Given the description of an element on the screen output the (x, y) to click on. 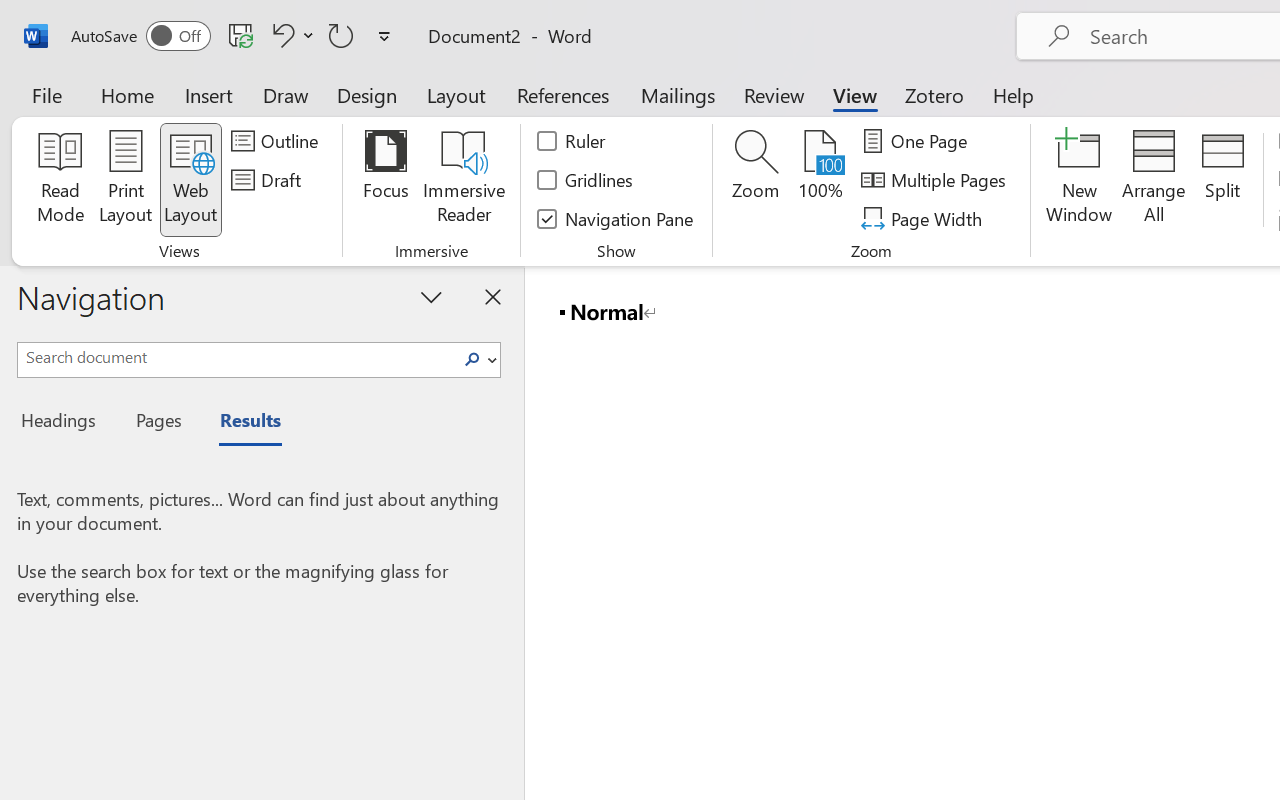
Headings (64, 423)
Customize Quick Access Toolbar (384, 35)
Gridlines (586, 179)
Search (478, 359)
Review (774, 94)
References (562, 94)
Draw (285, 94)
Navigation Pane (616, 218)
Quick Access Toolbar (233, 36)
Outline (278, 141)
Layout (456, 94)
100% (820, 179)
Search document (236, 357)
Help (1013, 94)
